Given the description of an element on the screen output the (x, y) to click on. 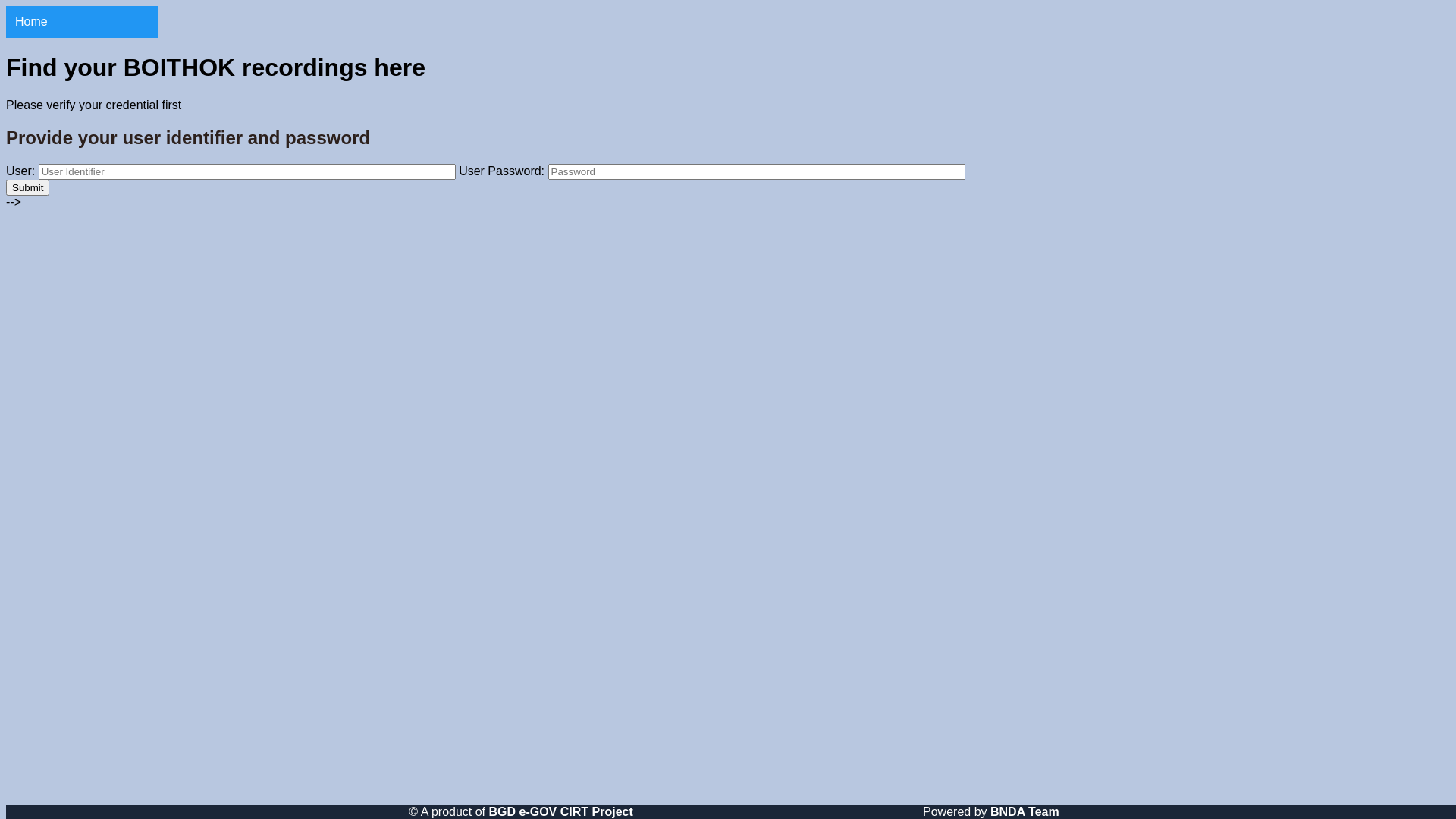
BNDA Team Element type: text (1024, 811)
Submit Element type: text (27, 187)
Home Element type: text (81, 21)
